Given the description of an element on the screen output the (x, y) to click on. 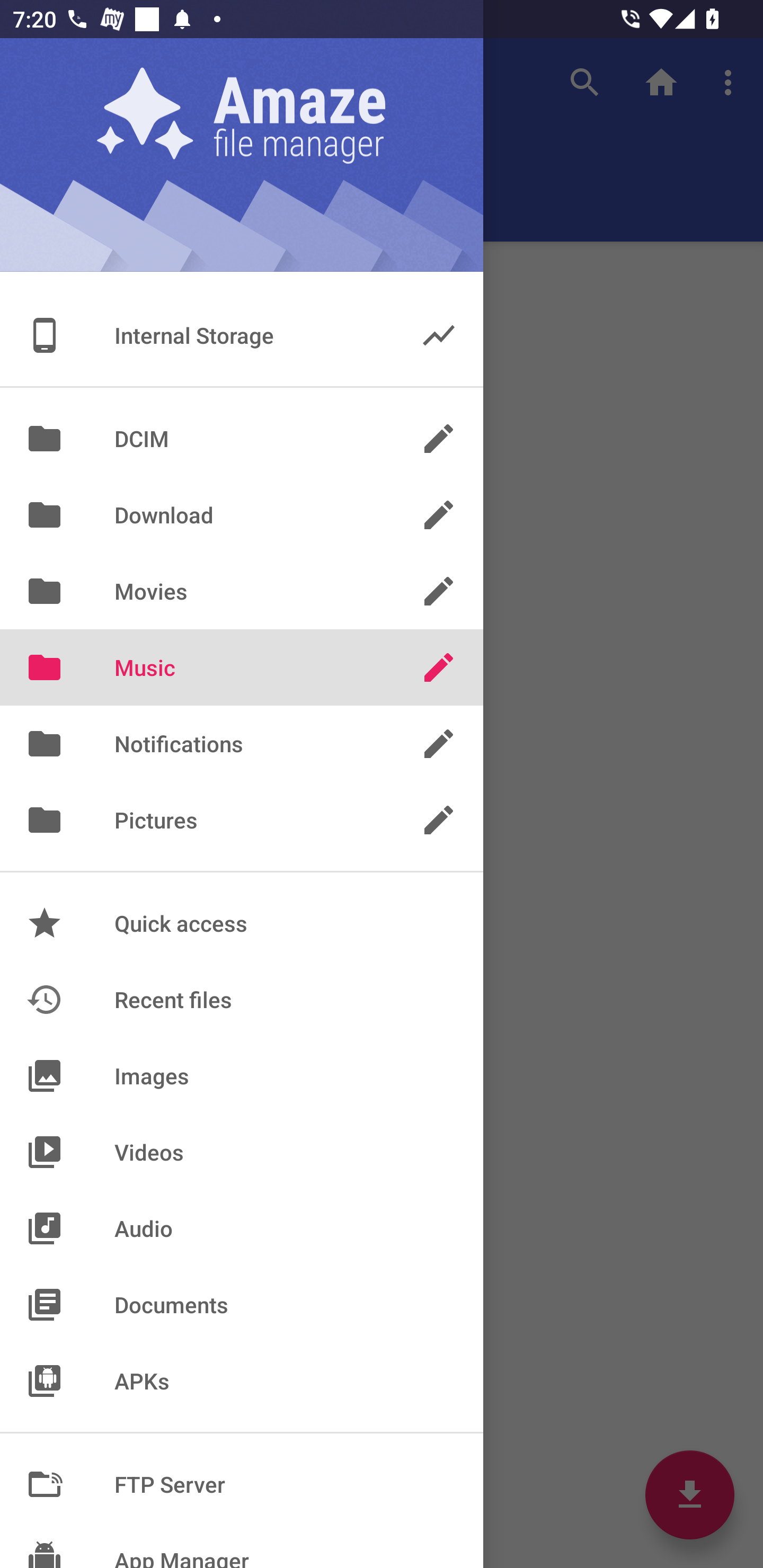
DCIM (241, 437)
Download (241, 514)
Movies (241, 590)
Music (241, 666)
Notifications (241, 743)
Pictures (241, 819)
Quick access (241, 923)
Recent files (241, 999)
Images (241, 1075)
Videos (241, 1151)
Audio (241, 1228)
Documents (241, 1304)
APKs (241, 1380)
FTP Server (241, 1483)
App Manager (241, 1545)
